Given the description of an element on the screen output the (x, y) to click on. 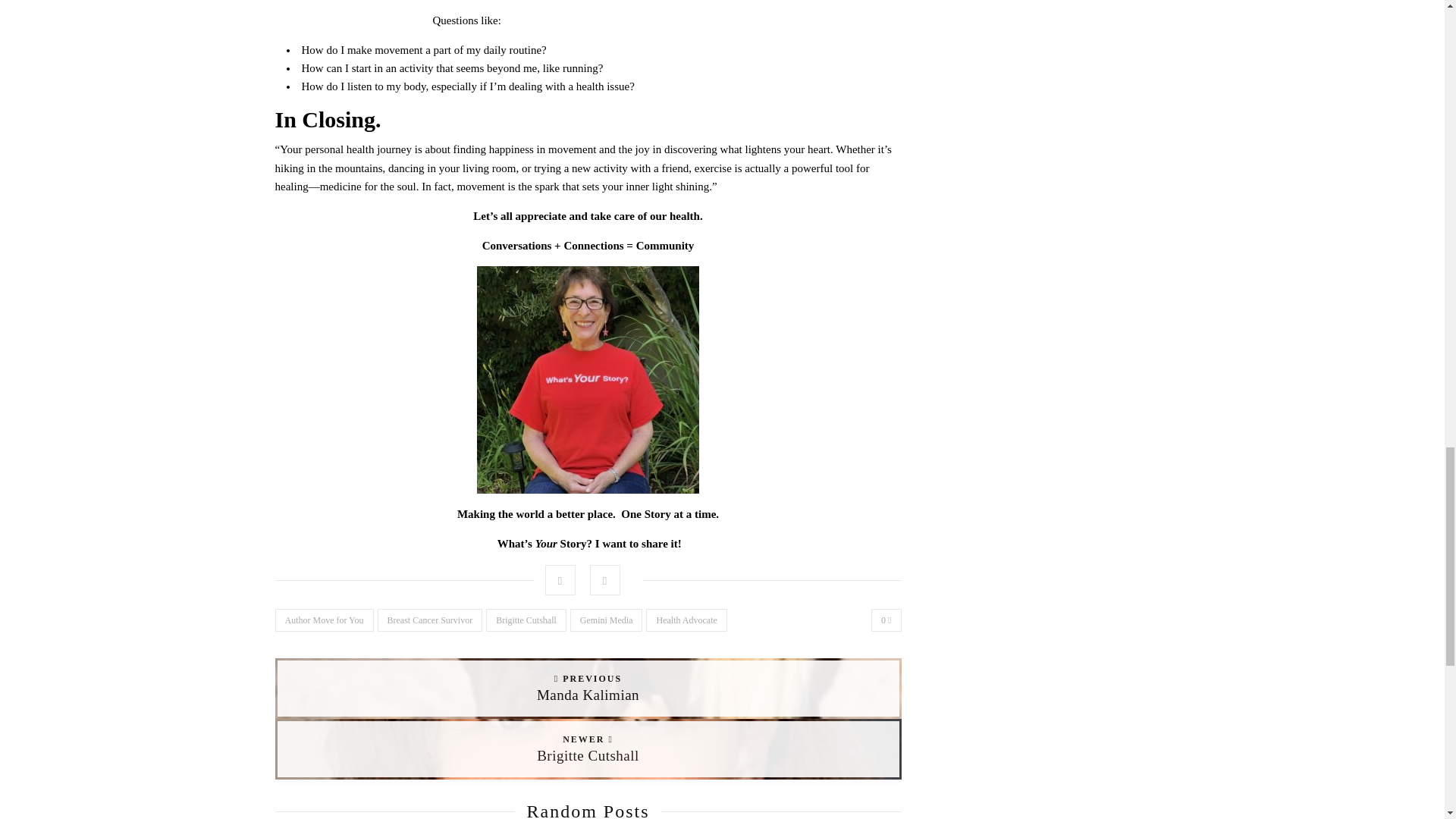
Like (885, 620)
Breast Cancer Survivor (430, 620)
Author Move for You (323, 620)
Brigitte Cutshall (526, 620)
